Given the description of an element on the screen output the (x, y) to click on. 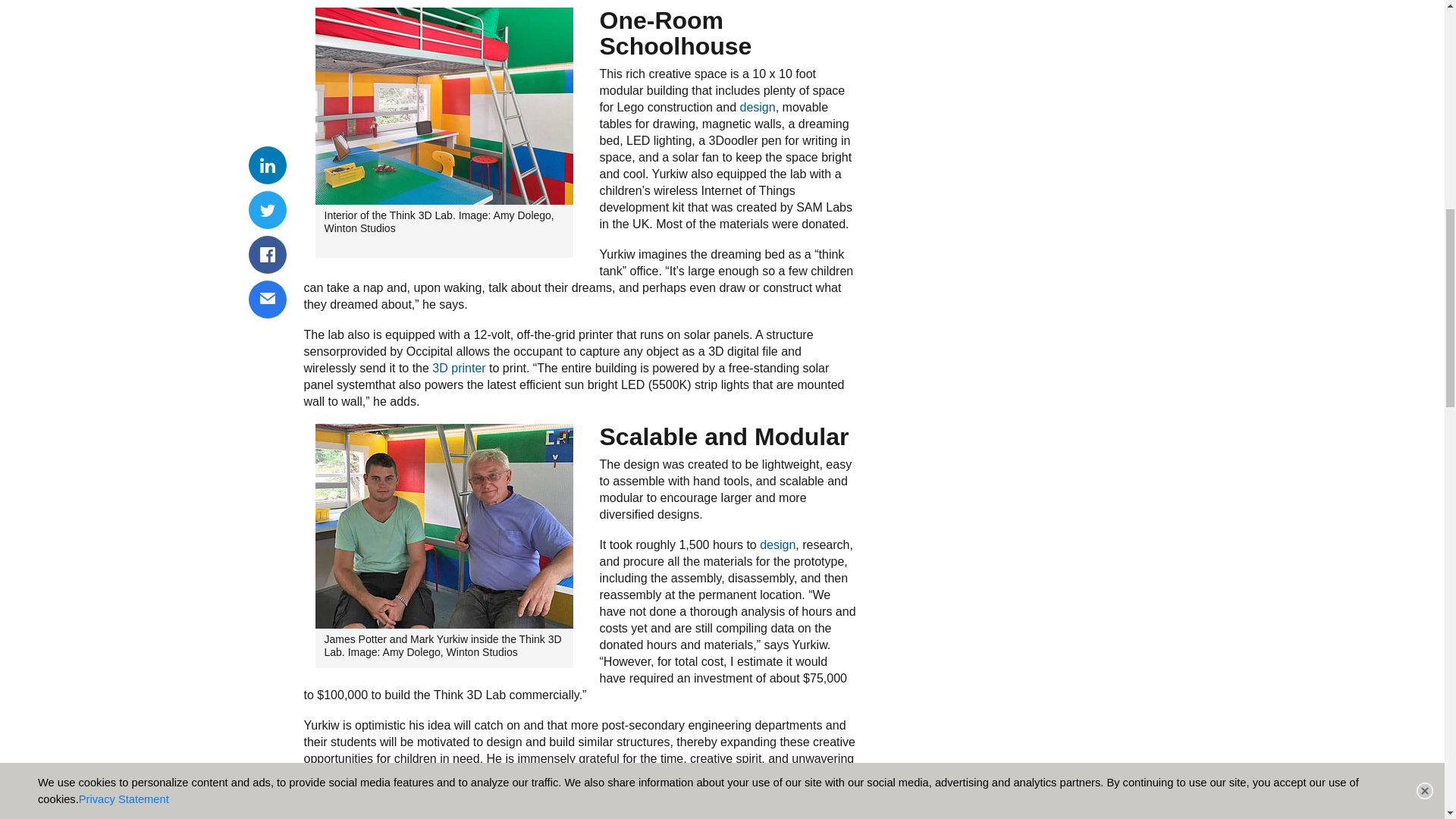
Turning Ideas into Reality at the Maker Faire (777, 544)
design (757, 106)
design (777, 544)
7 STEM Apps for Students (757, 106)
3D Footprint Grows with BAAM (458, 367)
3D printer (458, 367)
